Given the description of an element on the screen output the (x, y) to click on. 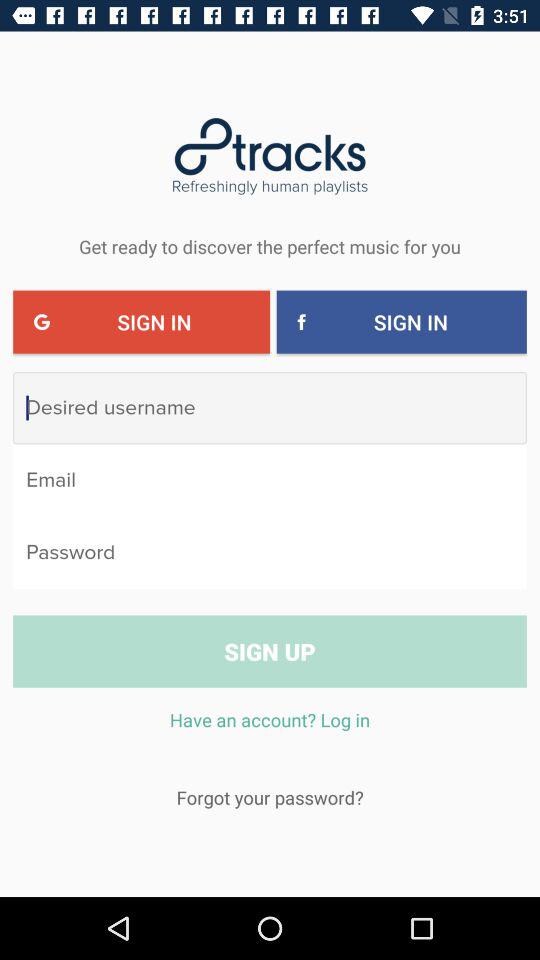
type in username (269, 408)
